Given the description of an element on the screen output the (x, y) to click on. 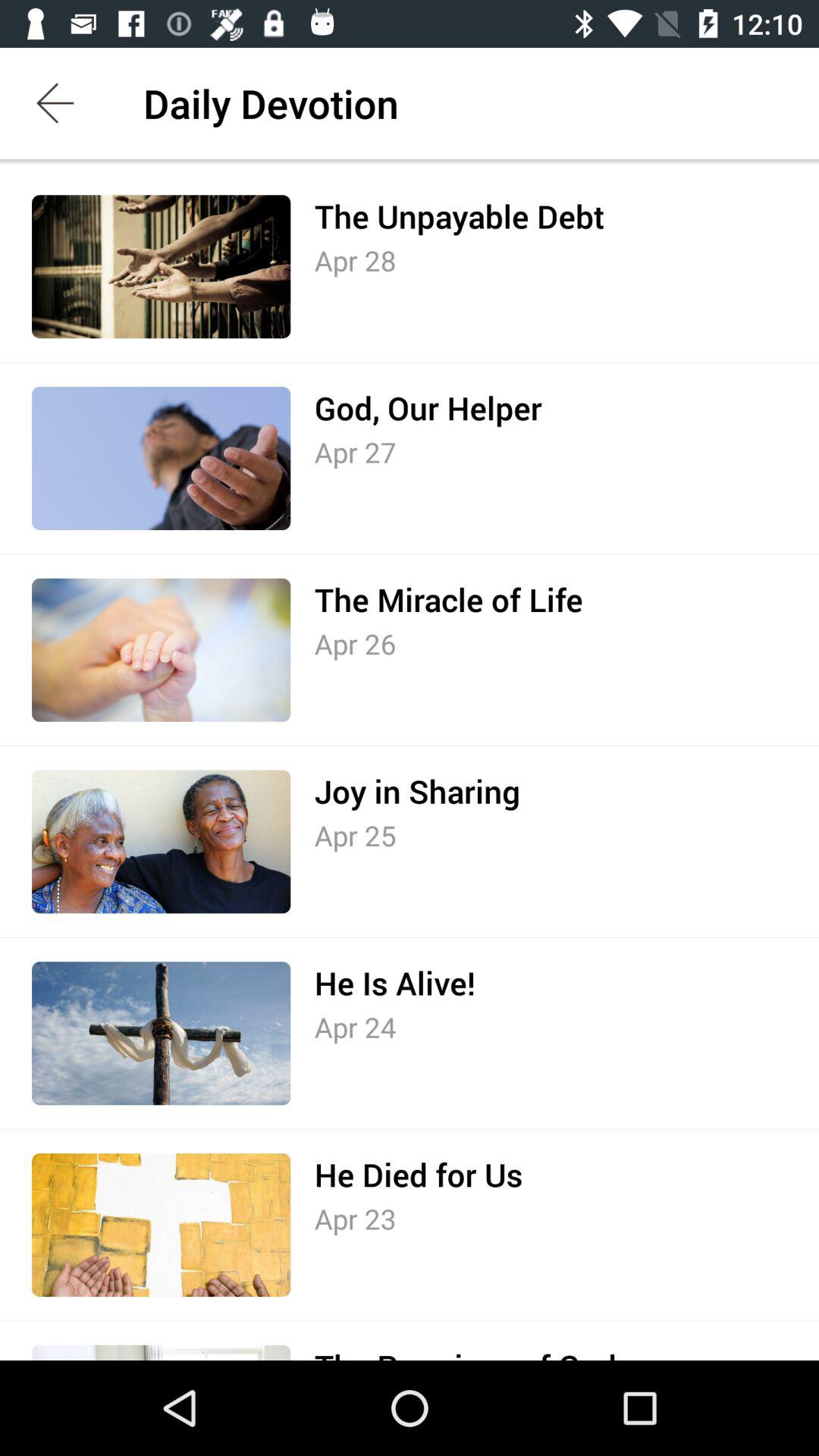
go back (55, 103)
